Given the description of an element on the screen output the (x, y) to click on. 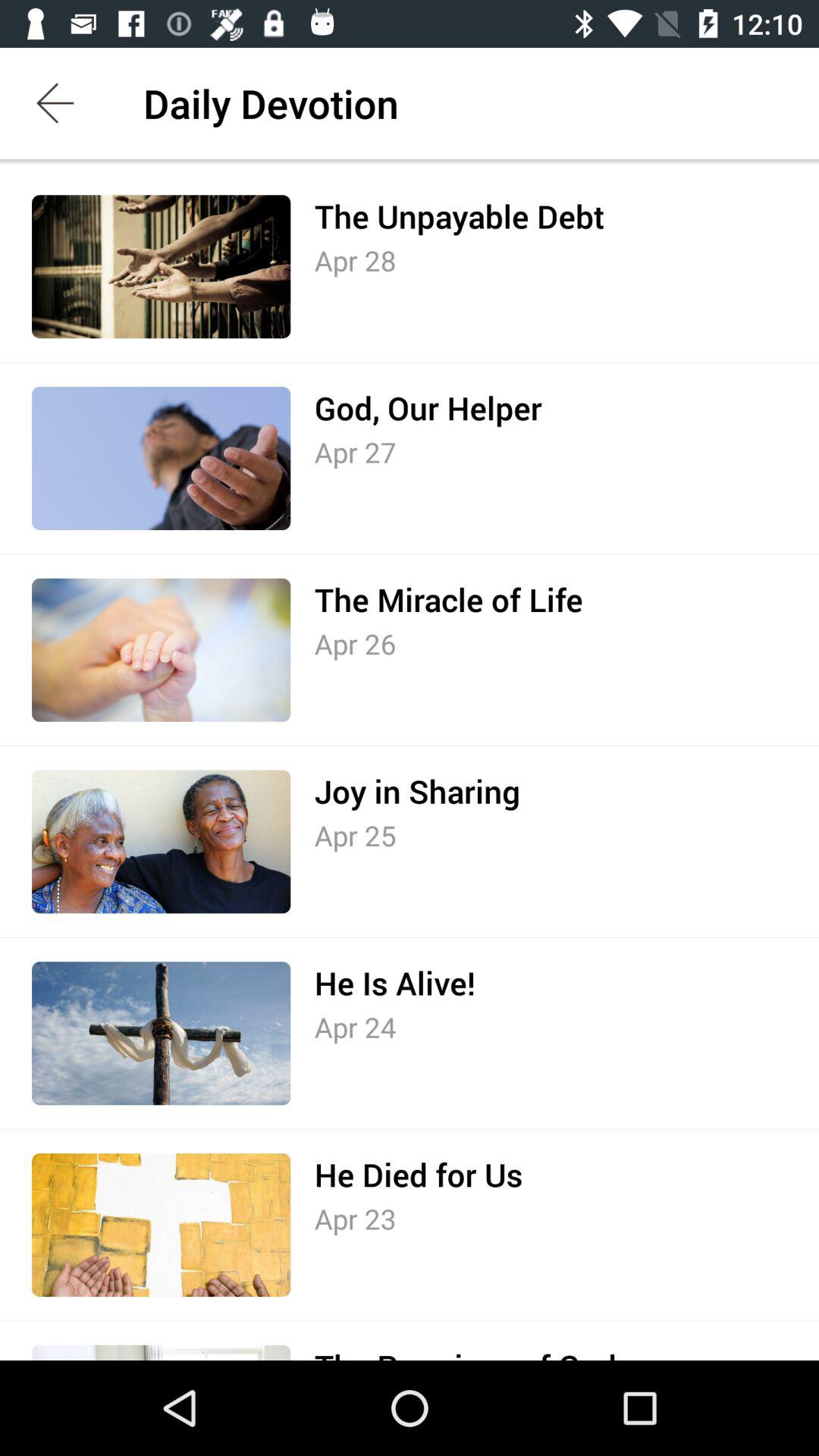
go back (55, 103)
